Given the description of an element on the screen output the (x, y) to click on. 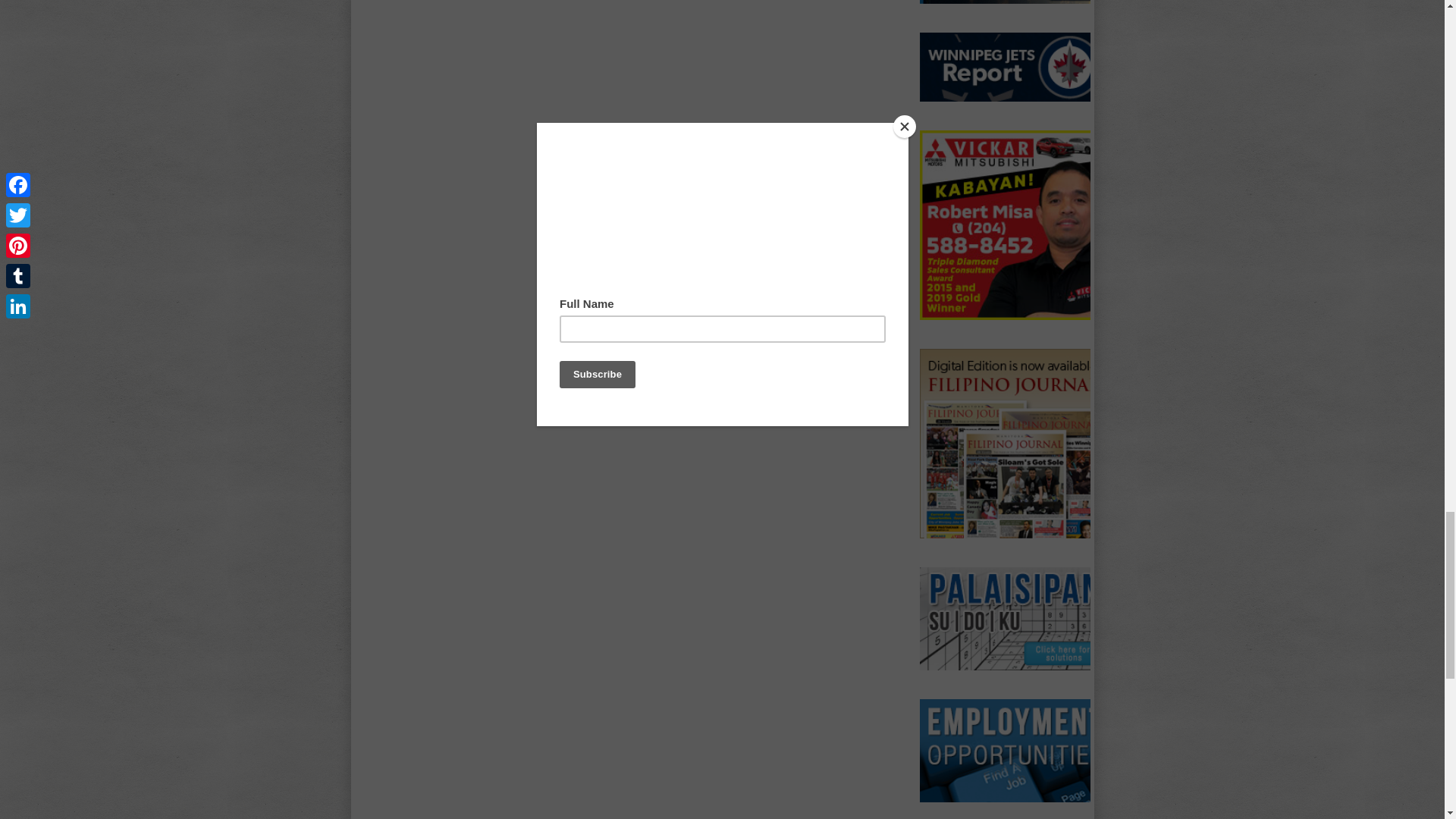
Jets Report (1013, 66)
Team Philippines (1013, 2)
